Given the description of an element on the screen output the (x, y) to click on. 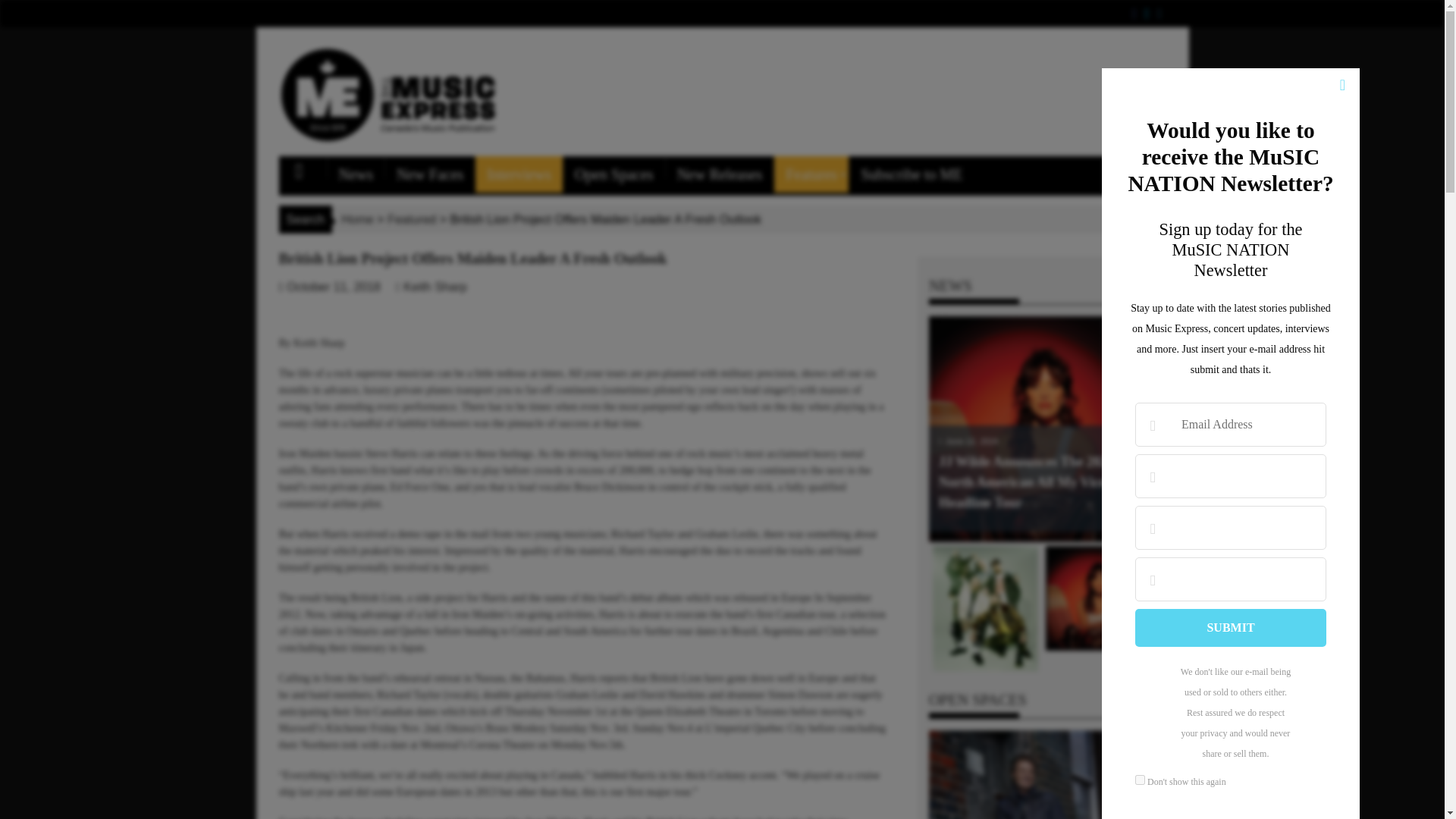
Features (811, 174)
The Music Express (306, 168)
Home (352, 219)
New Releases (719, 174)
Featured (411, 219)
New Faces (429, 174)
on (1139, 779)
Interviews (519, 174)
October 11, 2018 (333, 286)
Open Spaces (614, 174)
Subscribe to ME (911, 174)
Keith Sharp (435, 286)
News (356, 174)
